Given the description of an element on the screen output the (x, y) to click on. 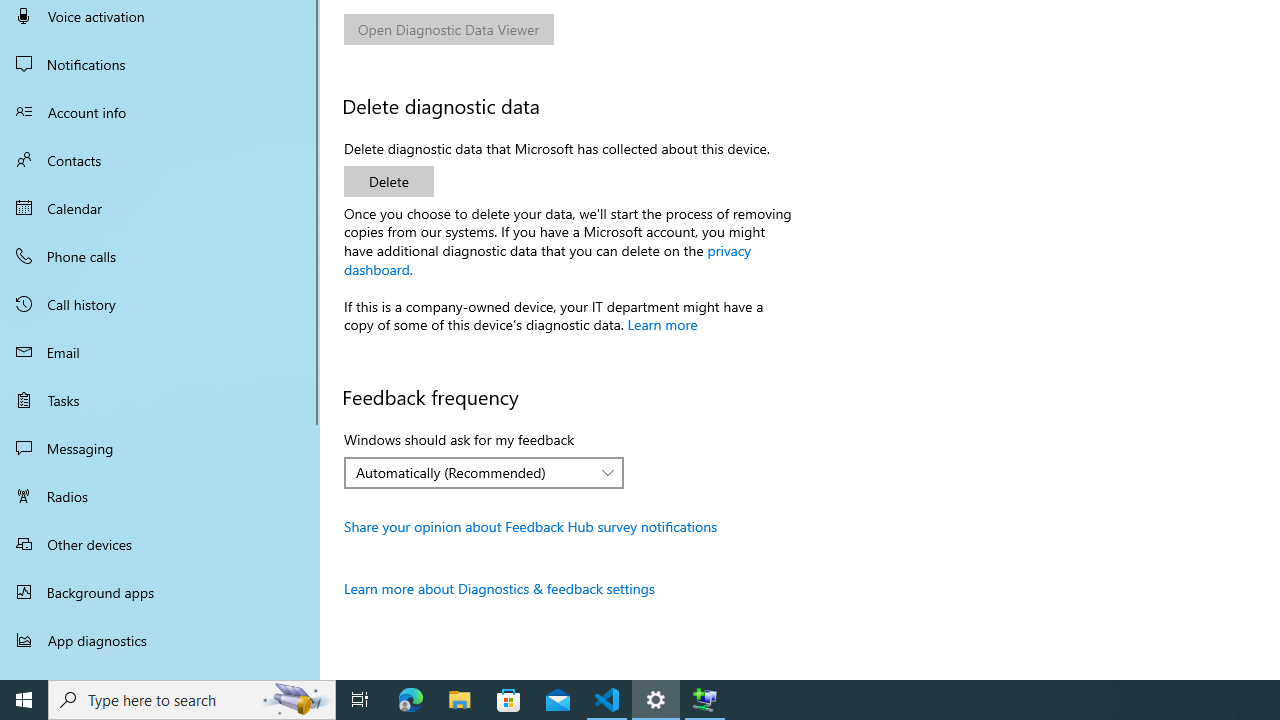
Learn more about Diagnostics & feedback settings (499, 588)
Windows should ask for my feedback (484, 472)
Call history (160, 304)
Account info (160, 111)
Radios (160, 495)
App diagnostics (160, 639)
Automatic file downloads (160, 671)
Other devices (160, 543)
Background apps (160, 592)
Tasks (160, 399)
